Given the description of an element on the screen output the (x, y) to click on. 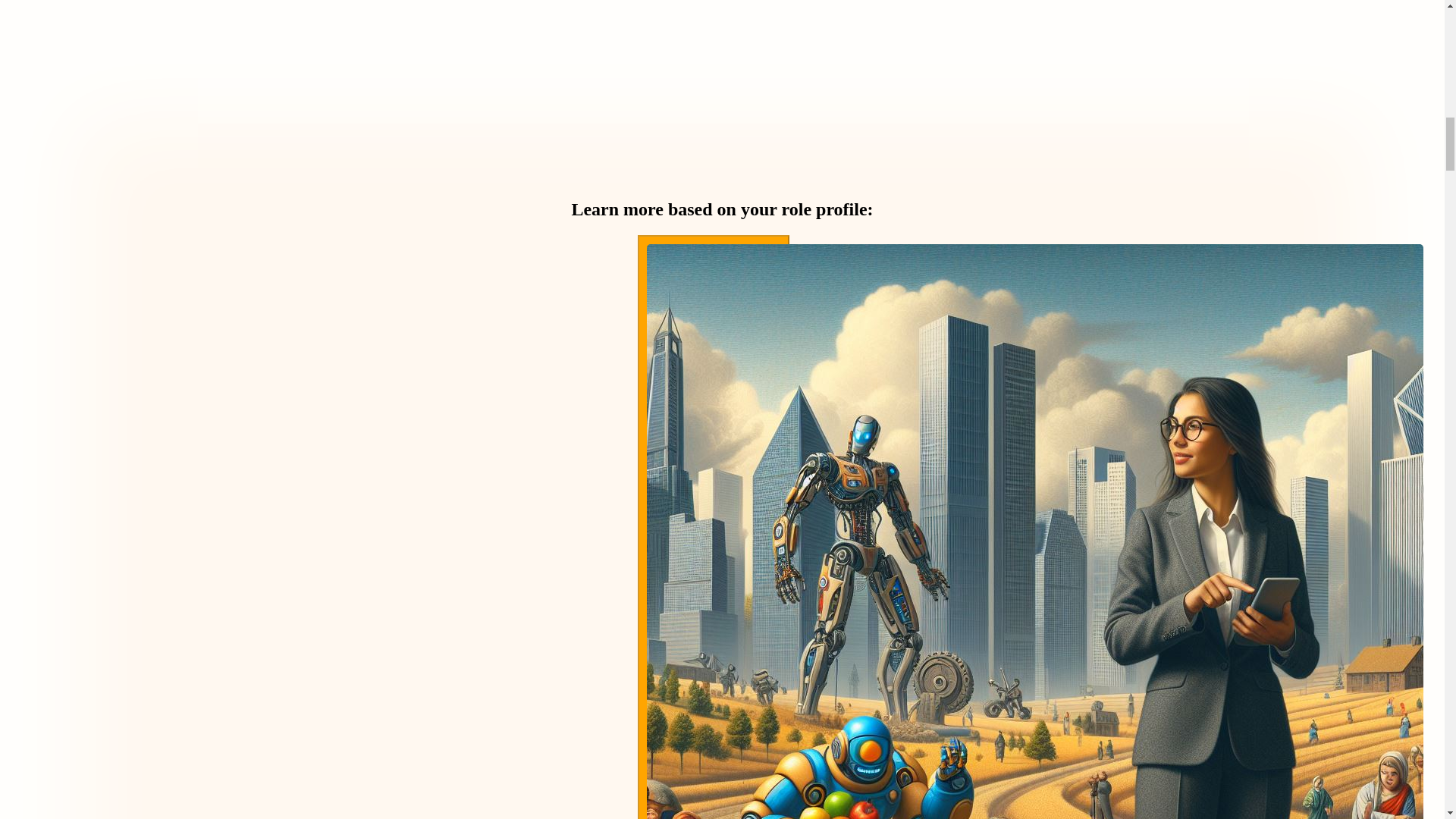
Business (713, 527)
